Given the description of an element on the screen output the (x, y) to click on. 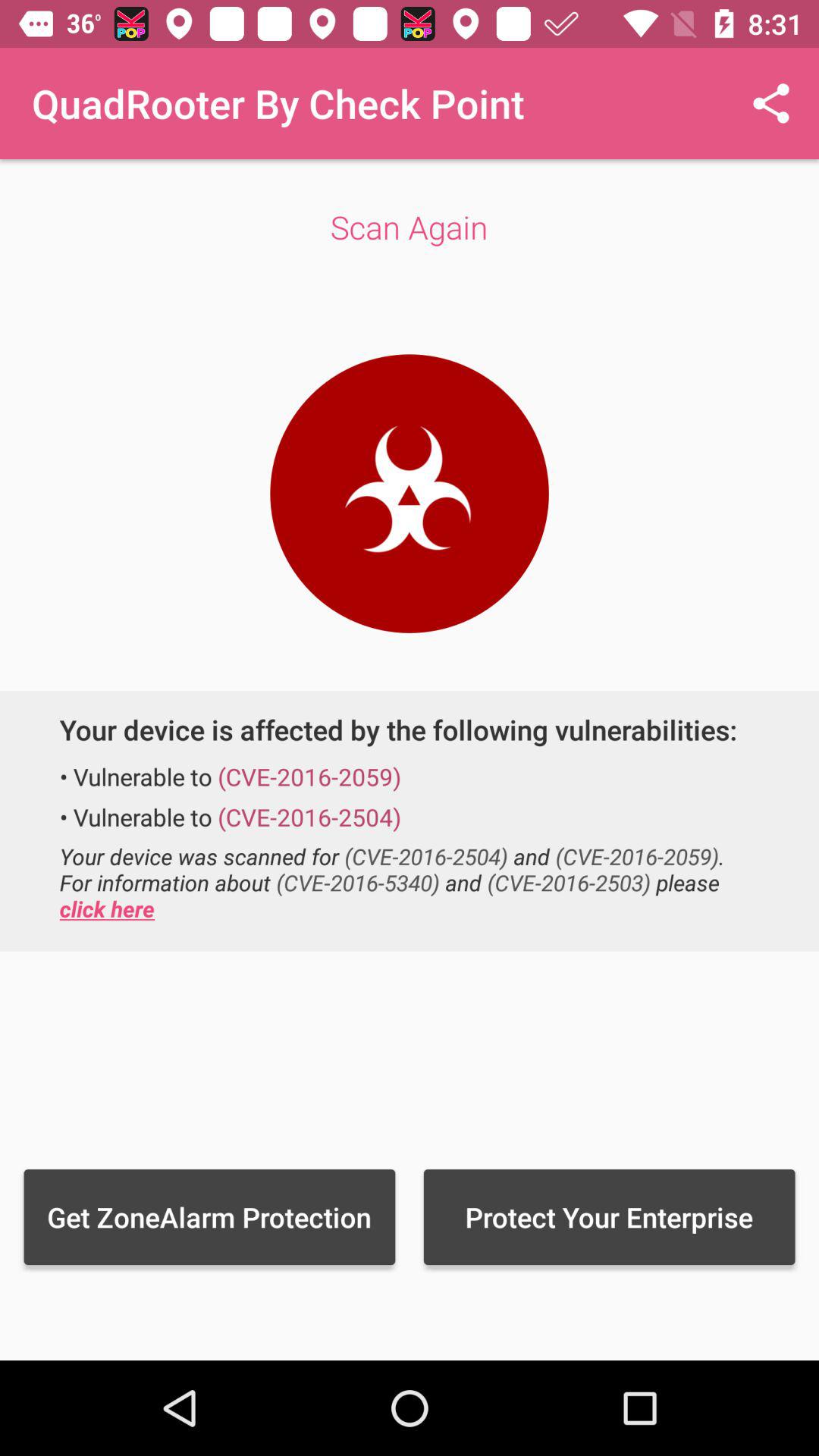
press icon below your device was icon (209, 1216)
